Given the description of an element on the screen output the (x, y) to click on. 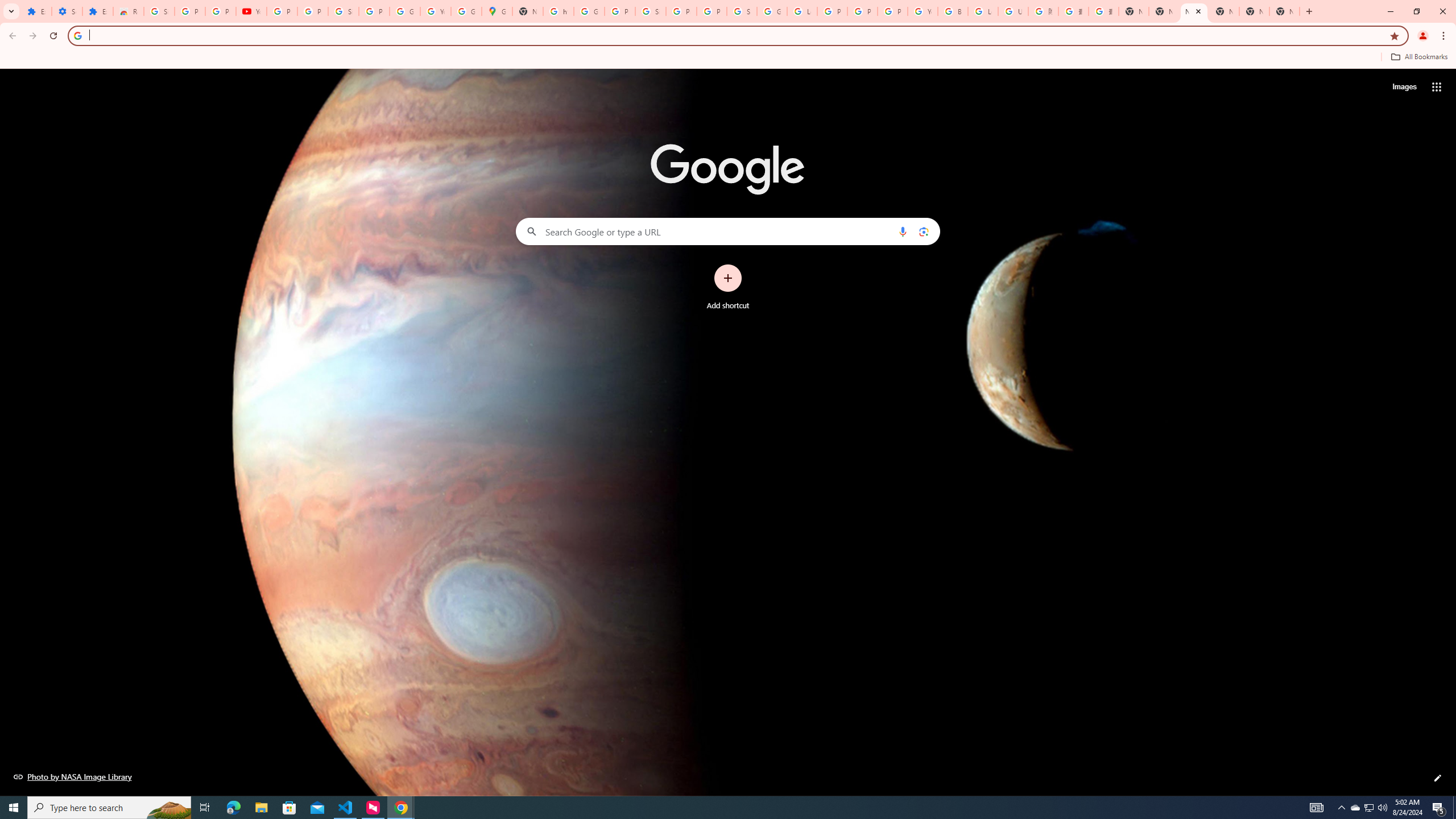
YouTube (251, 11)
Photo by NASA Image Library (72, 776)
Reviews: Helix Fruit Jump Arcade Game (127, 11)
Sign in - Google Accounts (158, 11)
Sign in - Google Accounts (650, 11)
Search by image (922, 230)
Bookmarks (728, 58)
